Given the description of an element on the screen output the (x, y) to click on. 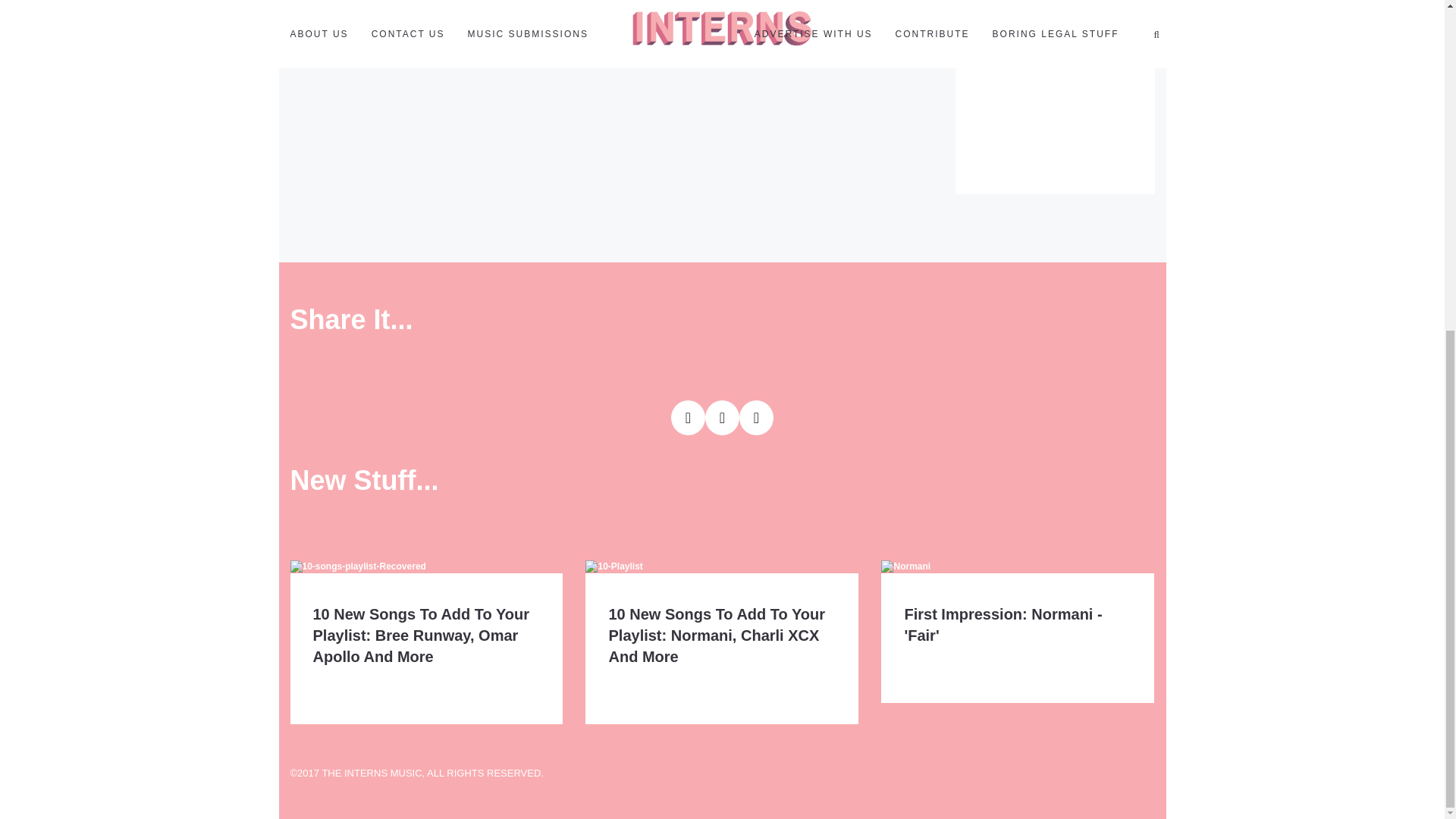
First Impression: Normani - 'Fair' (1003, 624)
